Given the description of an element on the screen output the (x, y) to click on. 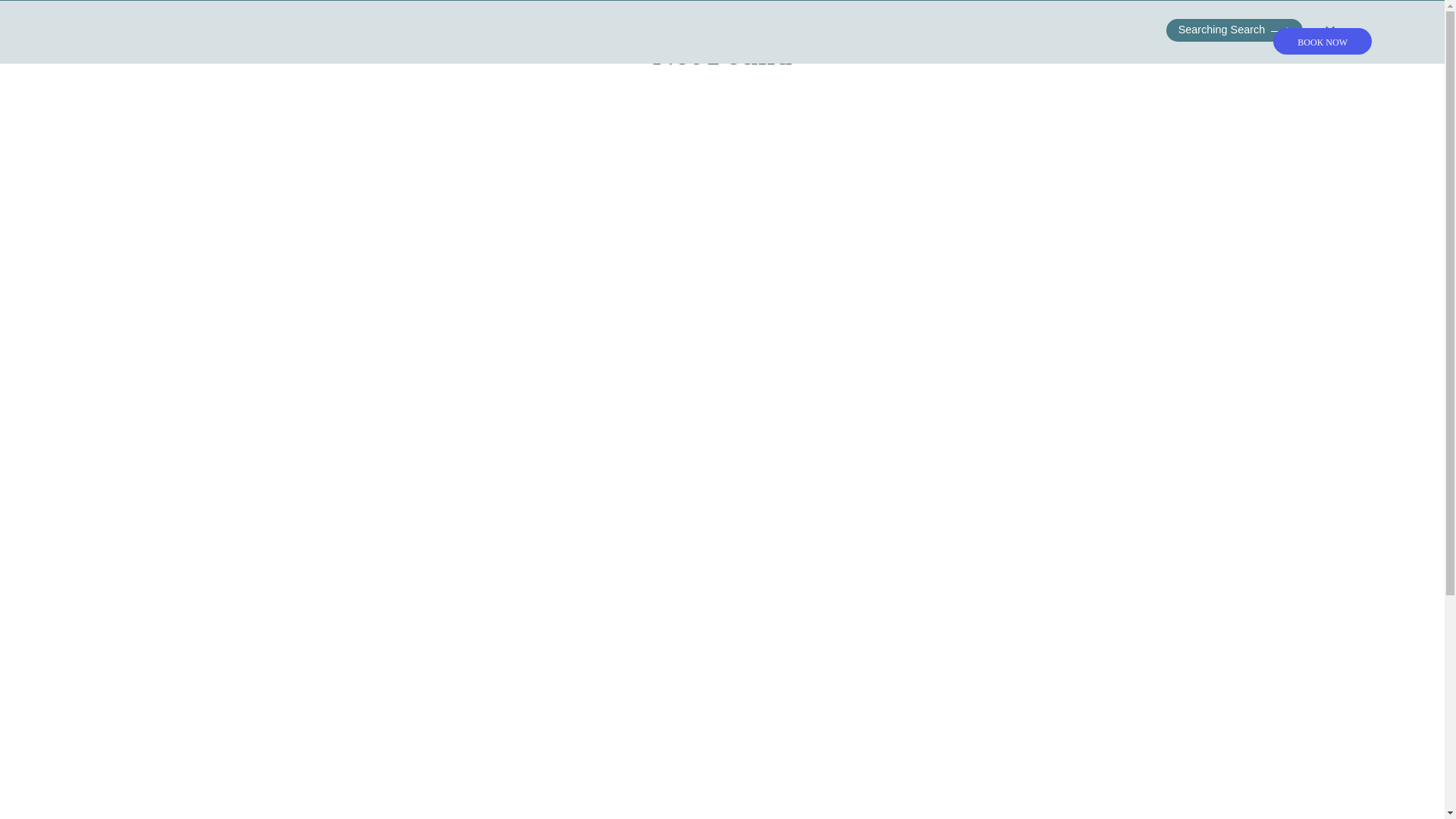
CLEAR (1339, 30)
Inspire Me (722, 124)
Searching Search (1234, 29)
BOOK NOW (1321, 40)
